Given the description of an element on the screen output the (x, y) to click on. 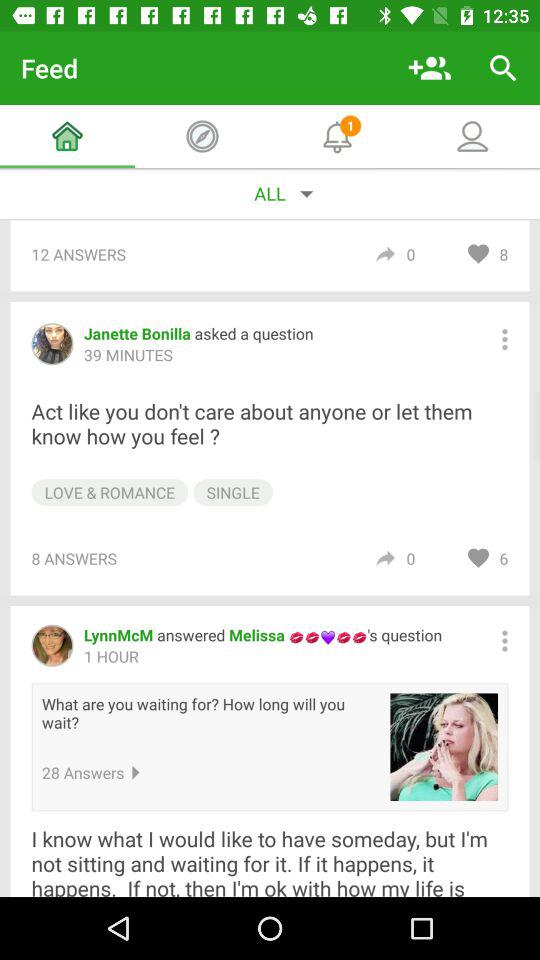
see options (504, 339)
